Given the description of an element on the screen output the (x, y) to click on. 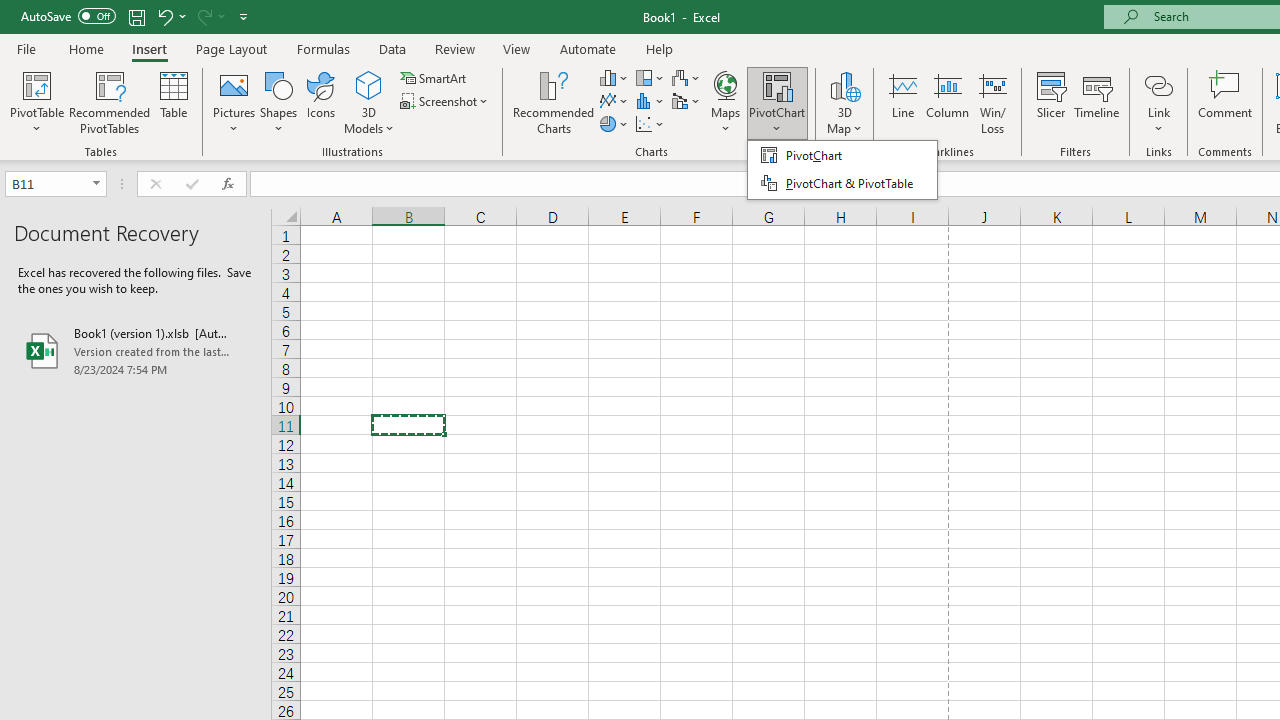
Formulas (323, 48)
Open (96, 183)
Line (902, 102)
Insert (149, 48)
View (517, 48)
Recommended Charts (553, 102)
3D Models (368, 102)
PivotTable (36, 102)
SmartArt... (434, 78)
Insert Line or Area Chart (614, 101)
Insert Column or Bar Chart (614, 78)
Customize Quick Access Toolbar (244, 15)
